Given the description of an element on the screen output the (x, y) to click on. 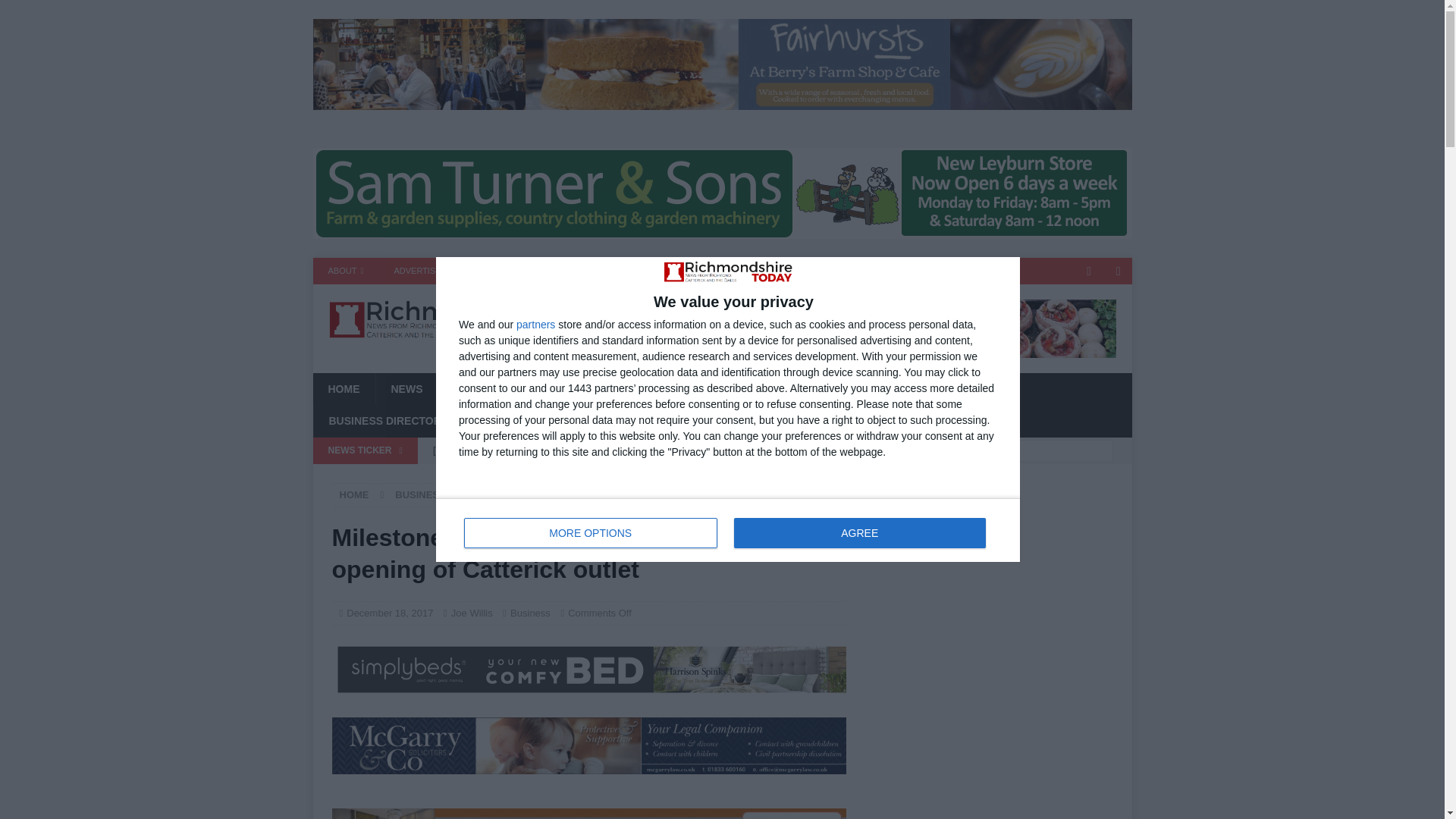
MAGAZINE (566, 270)
SPORT (471, 388)
PHOTOS (930, 388)
ADVERTISE (416, 270)
BUSINESS (635, 388)
AGREE (859, 532)
MORE OPTIONS (590, 532)
PUBLIC NOTICES (639, 420)
Plans submitted for Leyburn affordable housing scheme (634, 475)
